Given the description of an element on the screen output the (x, y) to click on. 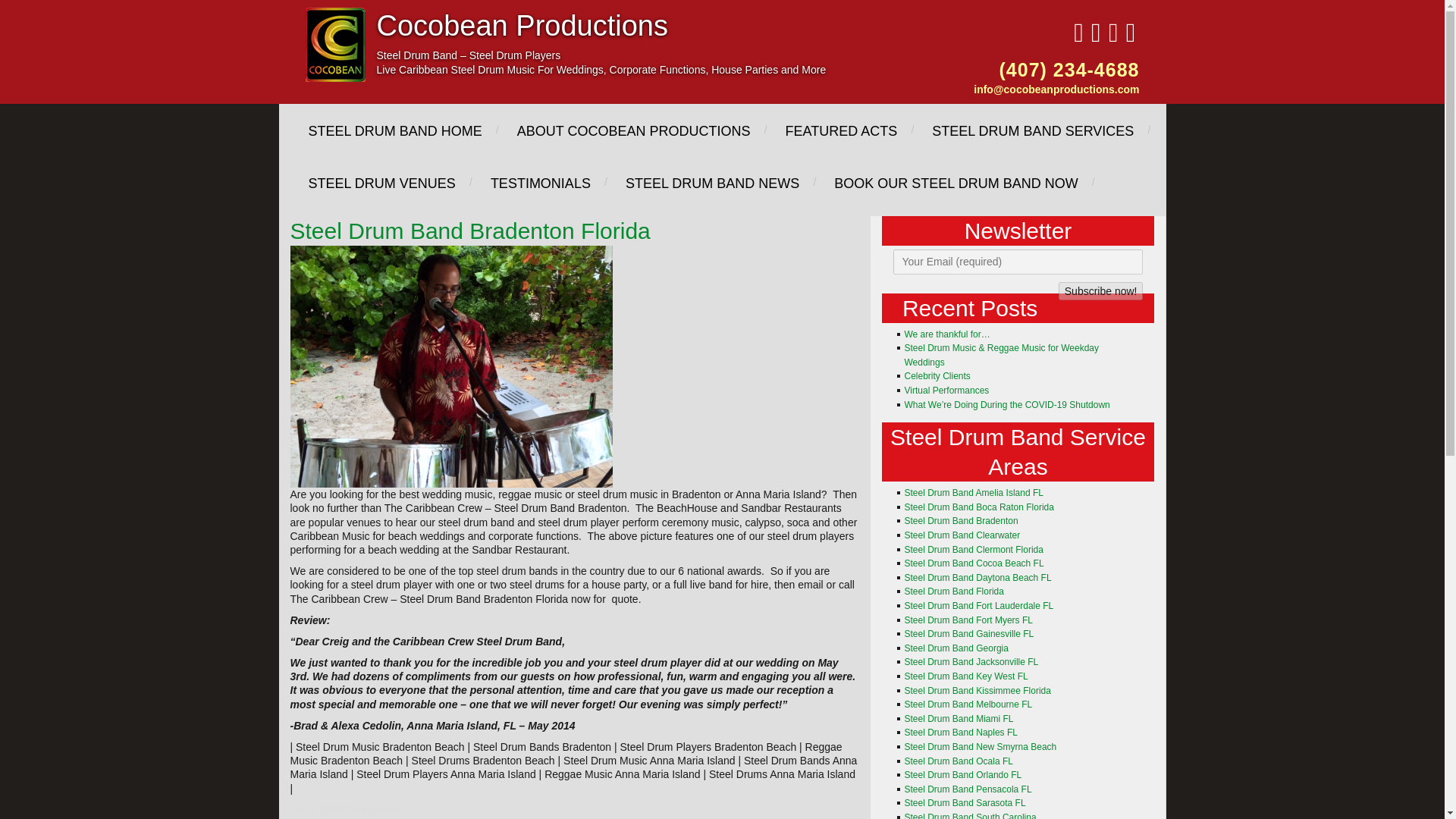
Steel Drum Band Fort Lauderdale FL (978, 605)
Steel Drum Band Bradenton (960, 520)
Steel Drum Band Jacksonville FL (971, 661)
Celebrity Clients (936, 376)
author profile (379, 808)
Steel Drum Band Daytona Beach FL (977, 577)
STEEL DRUM BAND HOME (393, 129)
STEEL DRUM BAND SERVICES (1032, 129)
TESTIMONIALS (539, 182)
